Given the description of an element on the screen output the (x, y) to click on. 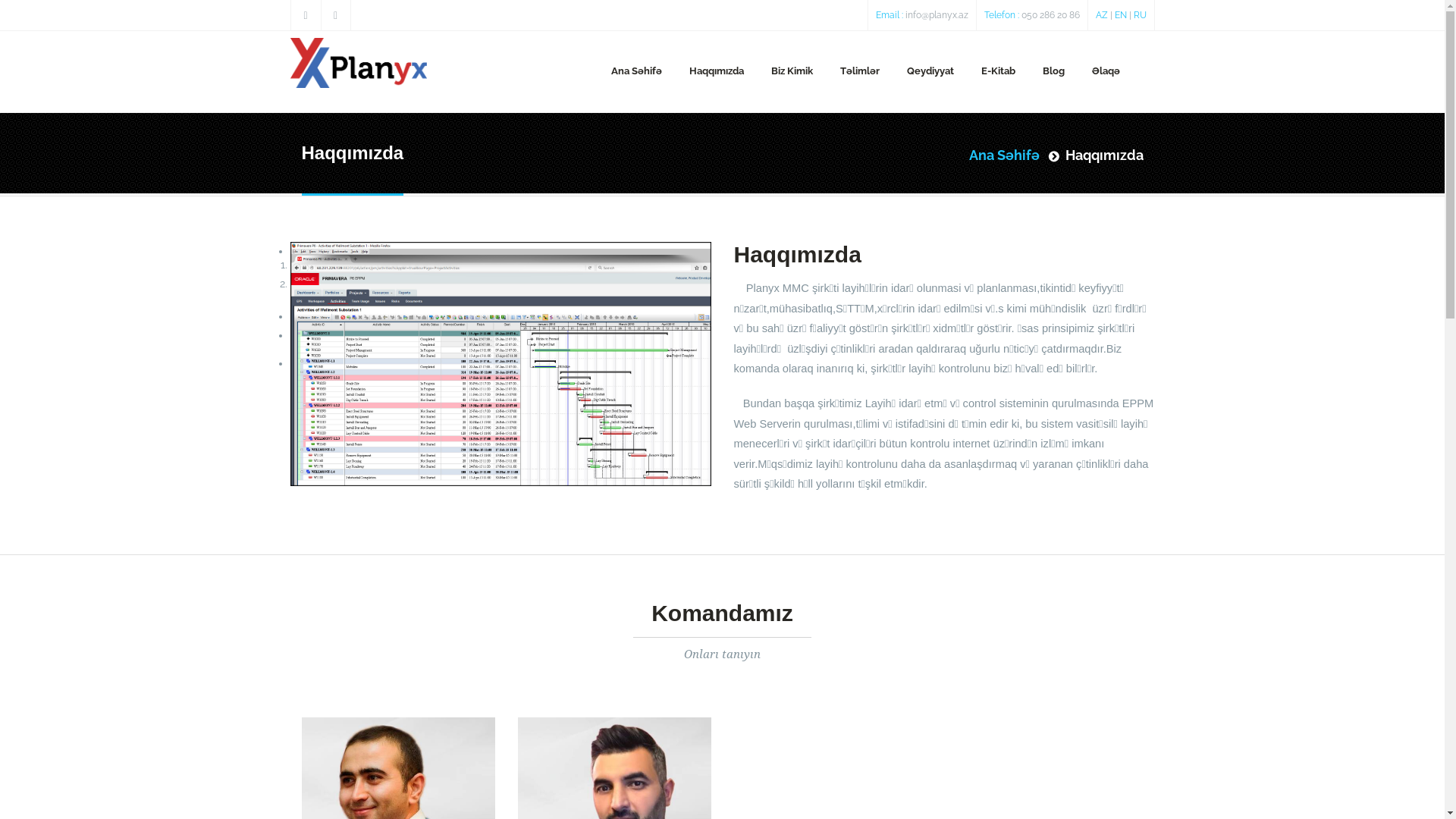
Next Element type: text (301, 335)
RU Element type: text (1138, 14)
1 Element type: text (291, 264)
Blog Element type: text (1053, 70)
Home Element type: hover (357, 59)
E-Kitab Element type: text (997, 70)
AZ Element type: text (1101, 14)
2 Element type: text (291, 283)
EN Element type: text (1120, 14)
Previous Element type: text (310, 316)
Biz Kimik Element type: text (791, 70)
Qeydiyyat Element type: text (929, 70)
